Given the description of an element on the screen output the (x, y) to click on. 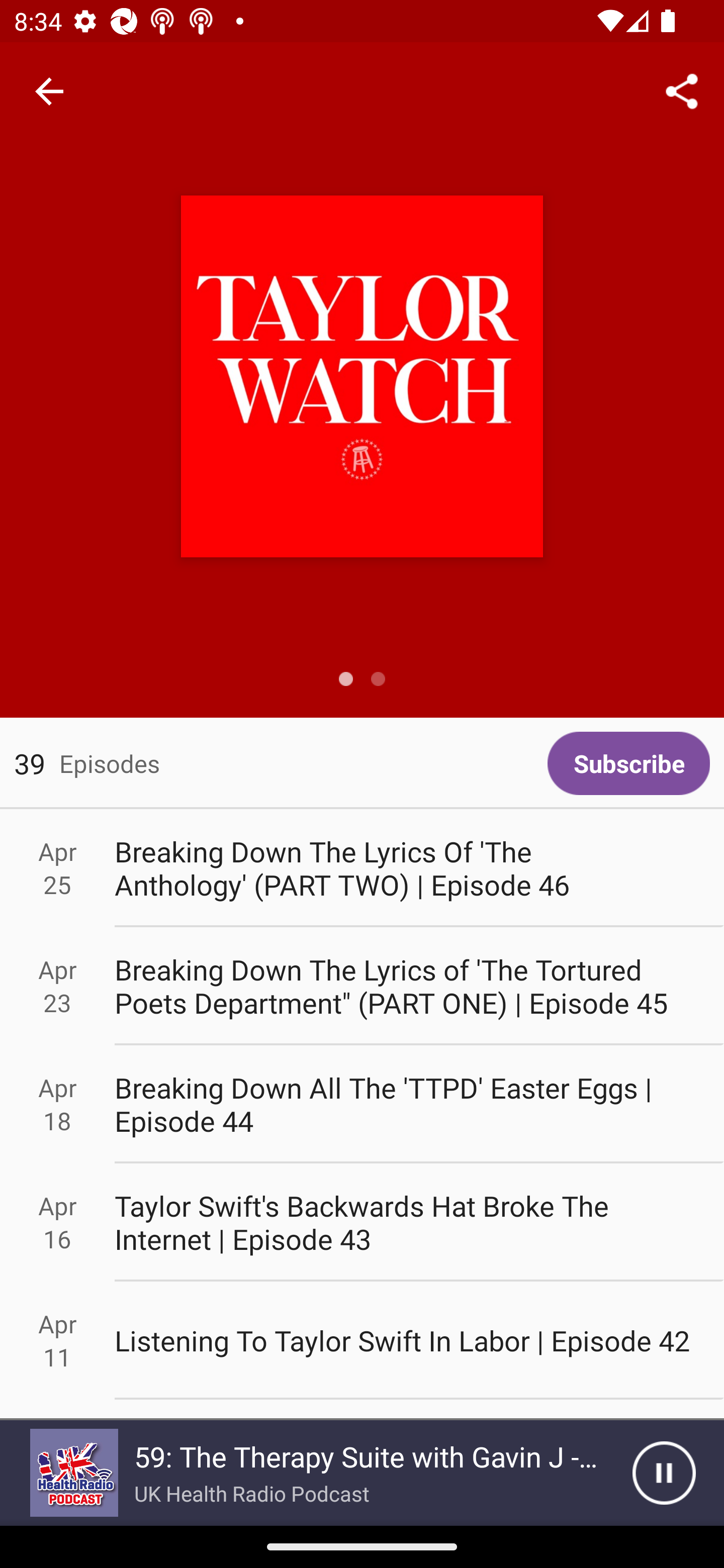
Navigate up (49, 91)
Share... (681, 90)
Subscribe (628, 763)
Pause (663, 1472)
